Given the description of an element on the screen output the (x, y) to click on. 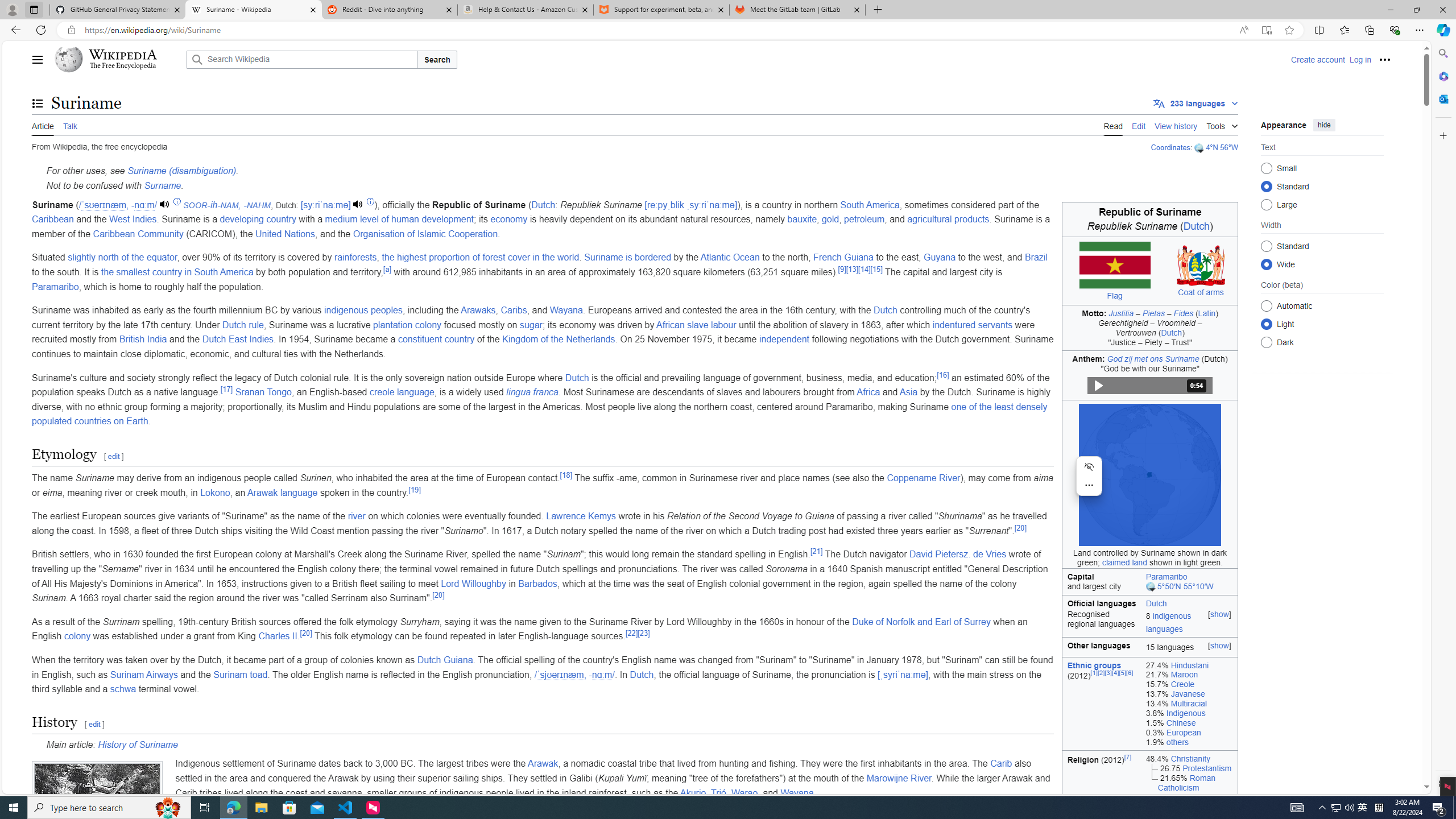
edit (94, 723)
[a] (386, 268)
the highest proportion of forest cover in the world (480, 257)
God zij met ons Suriname (1152, 358)
Lord Willoughby (473, 583)
Dutch (640, 674)
Coat of arms (1200, 291)
[6] (1129, 672)
Creole (1182, 684)
Organisation of Islamic Cooperation (424, 233)
[20] (305, 632)
Read (1112, 124)
